Given the description of an element on the screen output the (x, y) to click on. 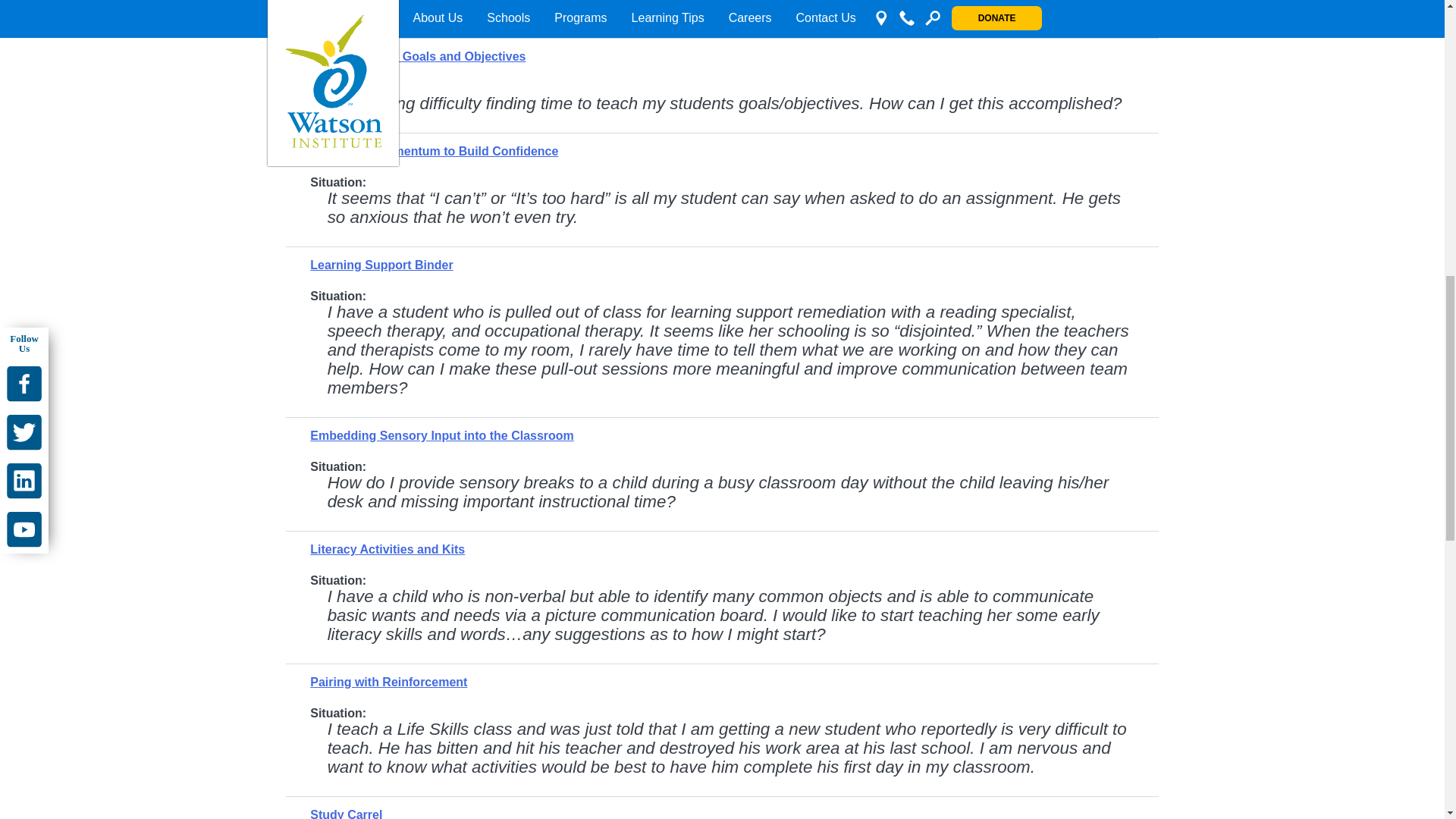
Permanent Link to Literacy Activities and Kits (387, 549)
Permanent Link to Embedding Sensory Input into the Classroom (441, 435)
Permanent Link to Embedding IEP Goals and Objectives (417, 56)
Permanent Link to Pairing with Reinforcement (388, 681)
Permanent Link to Study Carrel (345, 813)
Permanent Link to Behavioral Momentum to Build Confidence (433, 151)
Permanent Link to Learning Support Binder (381, 264)
